Given the description of an element on the screen output the (x, y) to click on. 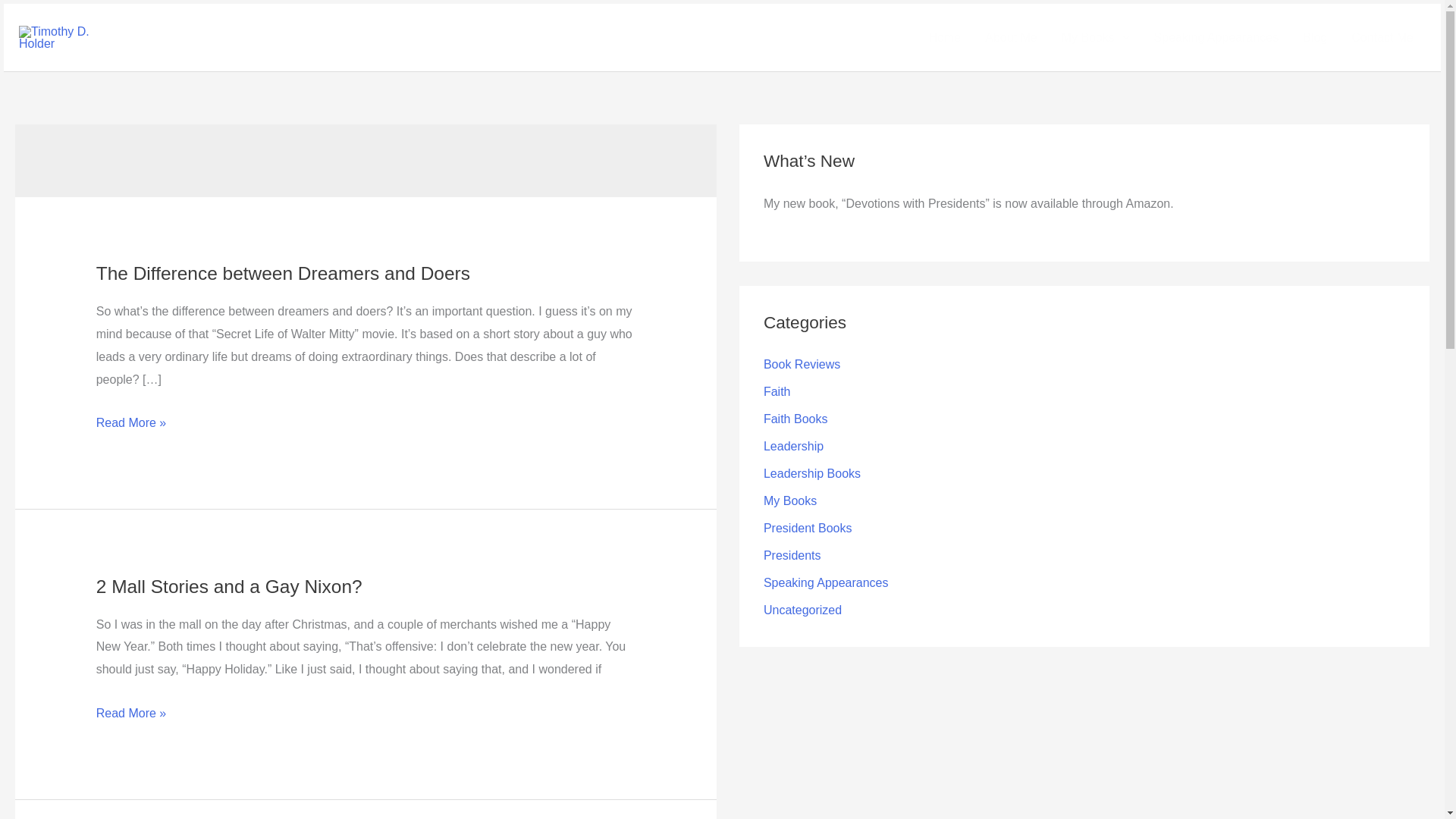
My Books (1095, 37)
The Difference between Dreamers and Doers (283, 272)
Contact Me (1382, 37)
Speaking Appearances (1216, 37)
Home (945, 37)
2 Mall Stories and a Gay Nixon? (229, 586)
Timothy D. Holder (186, 26)
Blog (1314, 37)
About Me (1010, 37)
